Given the description of an element on the screen output the (x, y) to click on. 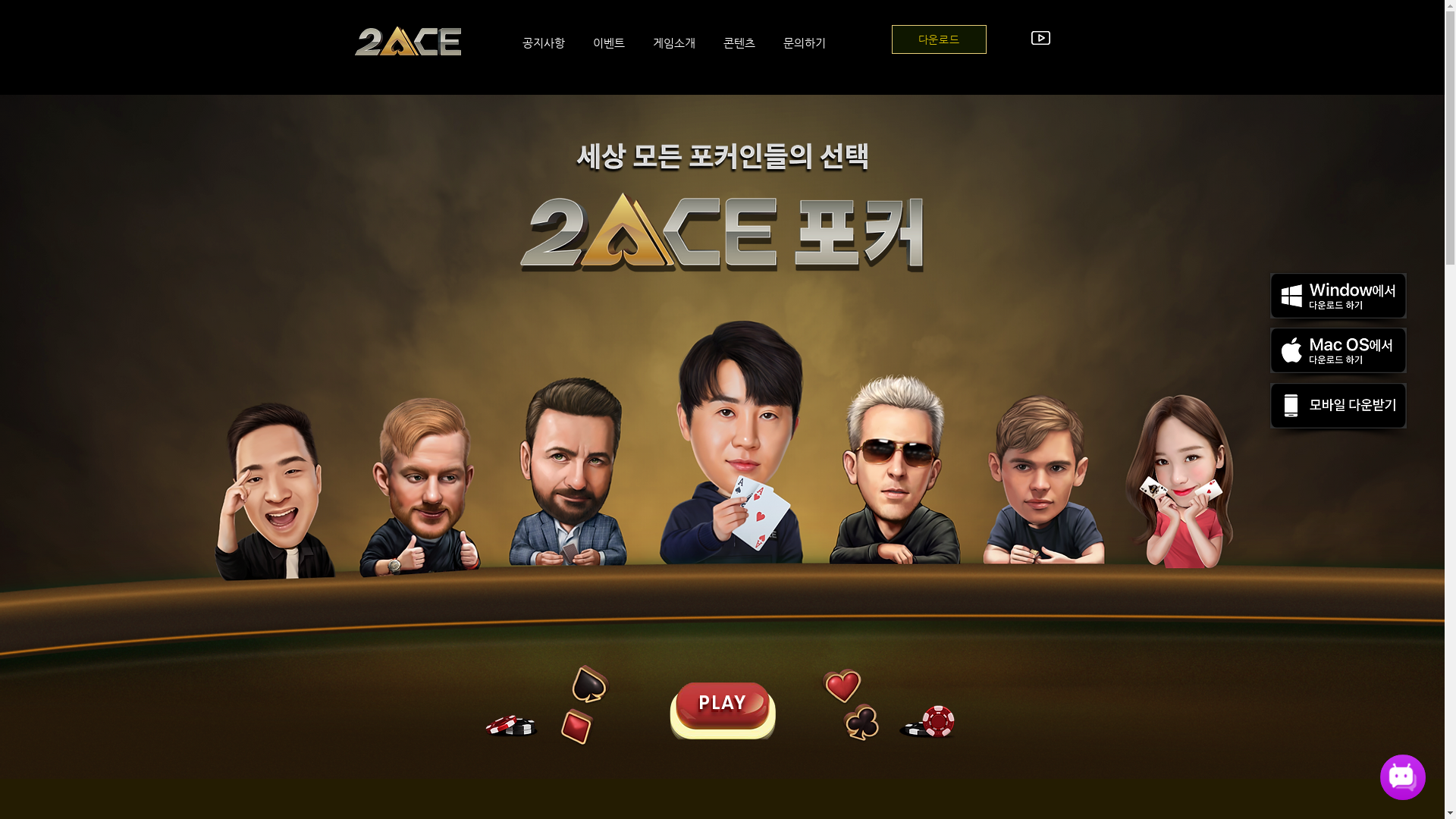
button2.png Element type: hover (721, 714)
button.png Element type: hover (721, 710)
